Given the description of an element on the screen output the (x, y) to click on. 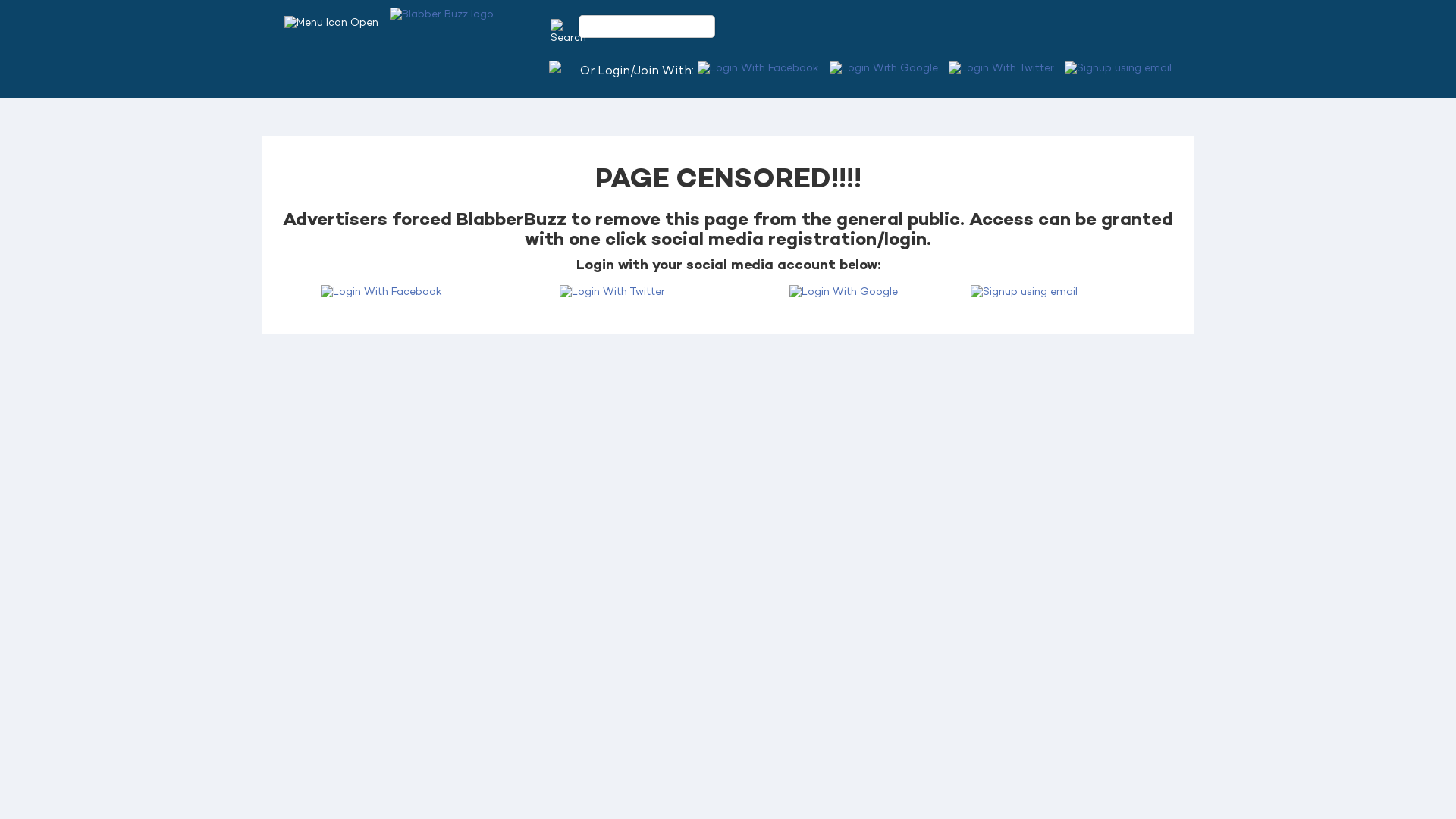
Login With Facebook Element type: hover (380, 292)
Login With Facebook Element type: hover (758, 68)
Login With Google Element type: hover (843, 292)
Login With Google Element type: hover (883, 68)
Login With Twitter Element type: hover (612, 292)
Signup using email Element type: hover (1117, 68)
Login With Twitter Element type: hover (1001, 68)
Signup using email Element type: hover (1074, 292)
